Given the description of an element on the screen output the (x, y) to click on. 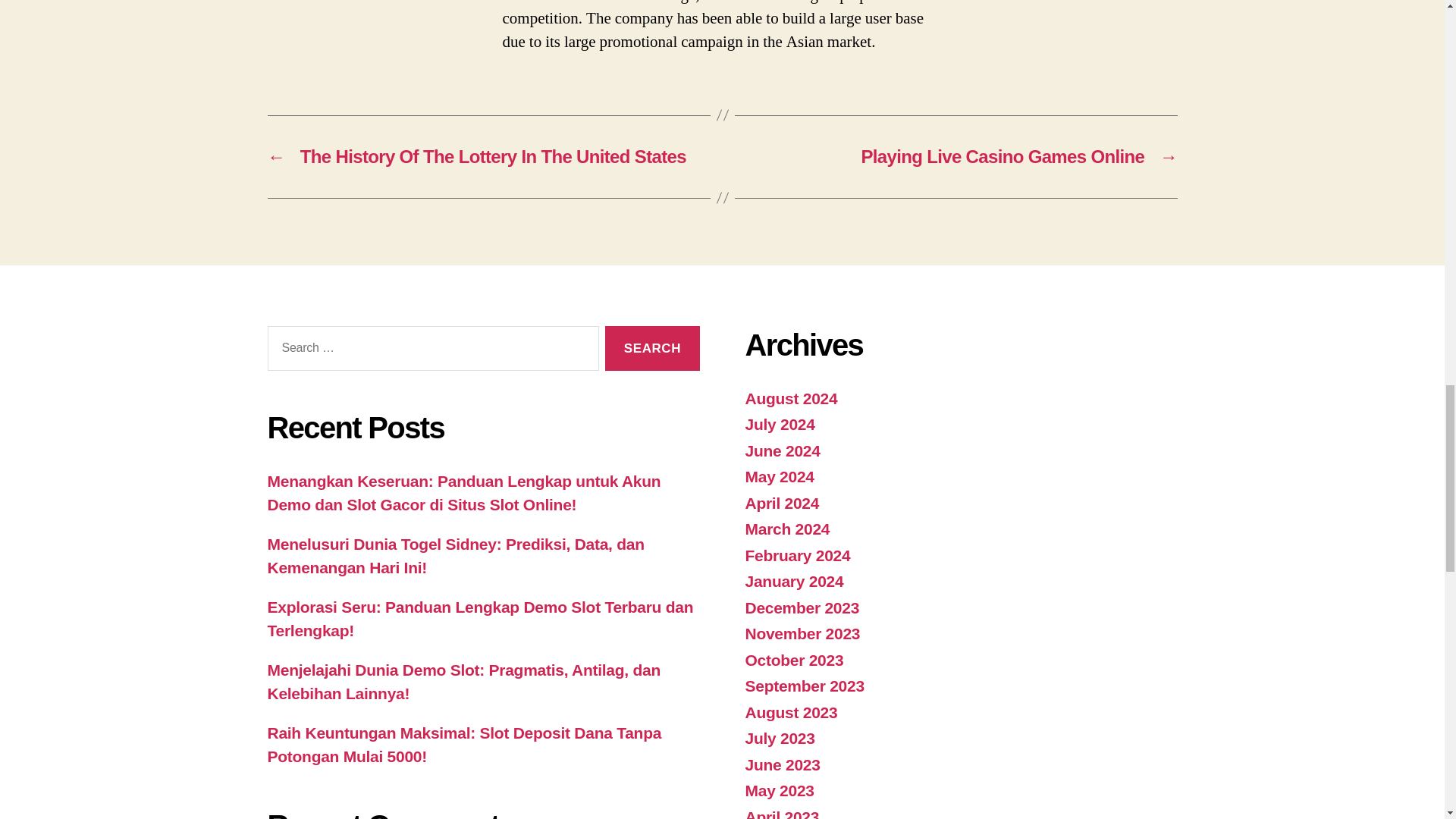
Search (651, 348)
January 2024 (793, 580)
August 2024 (790, 398)
April 2023 (781, 813)
October 2023 (793, 660)
May 2024 (778, 476)
February 2024 (797, 555)
